Given the description of an element on the screen output the (x, y) to click on. 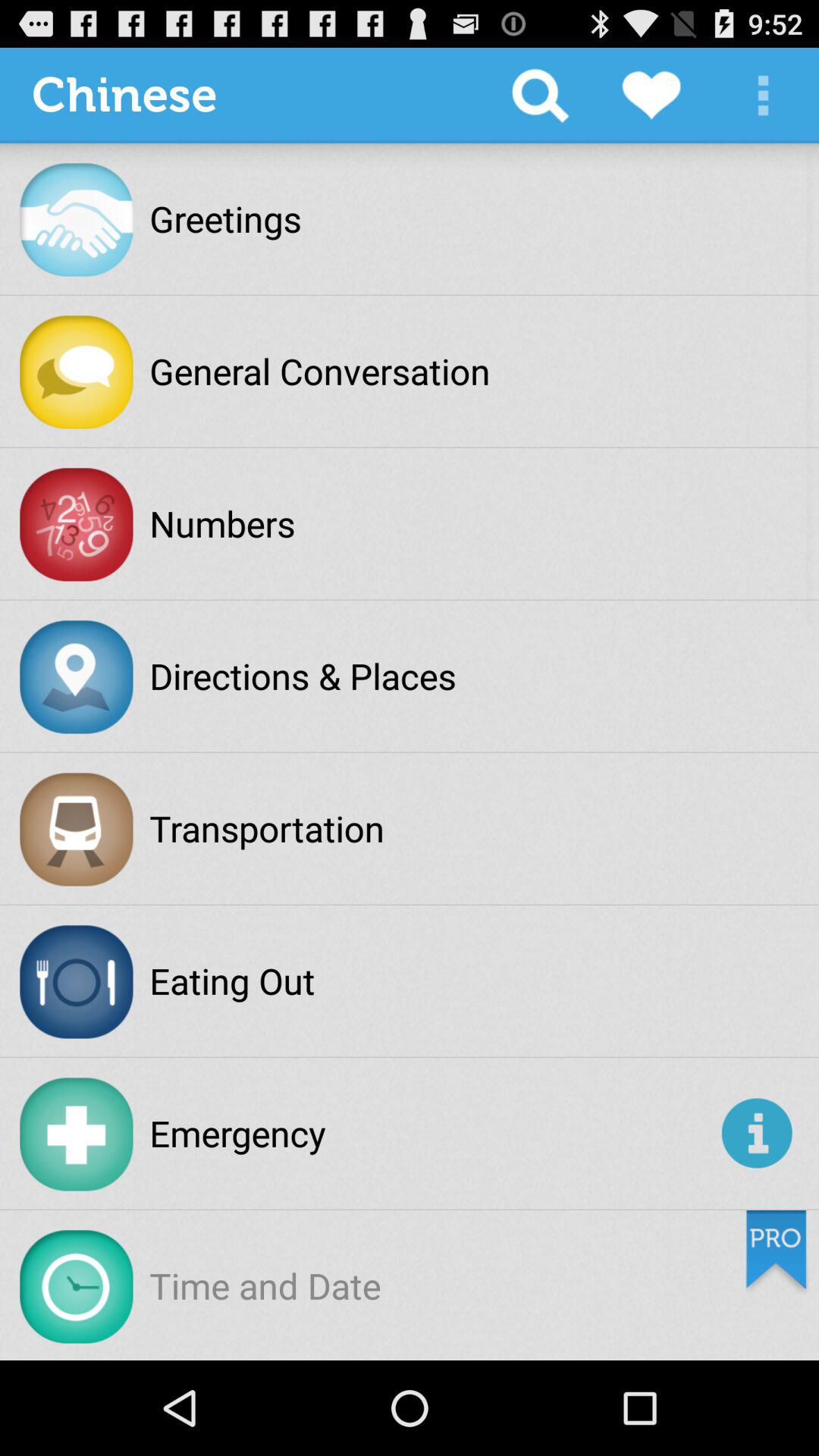
scroll until transportation (266, 828)
